Given the description of an element on the screen output the (x, y) to click on. 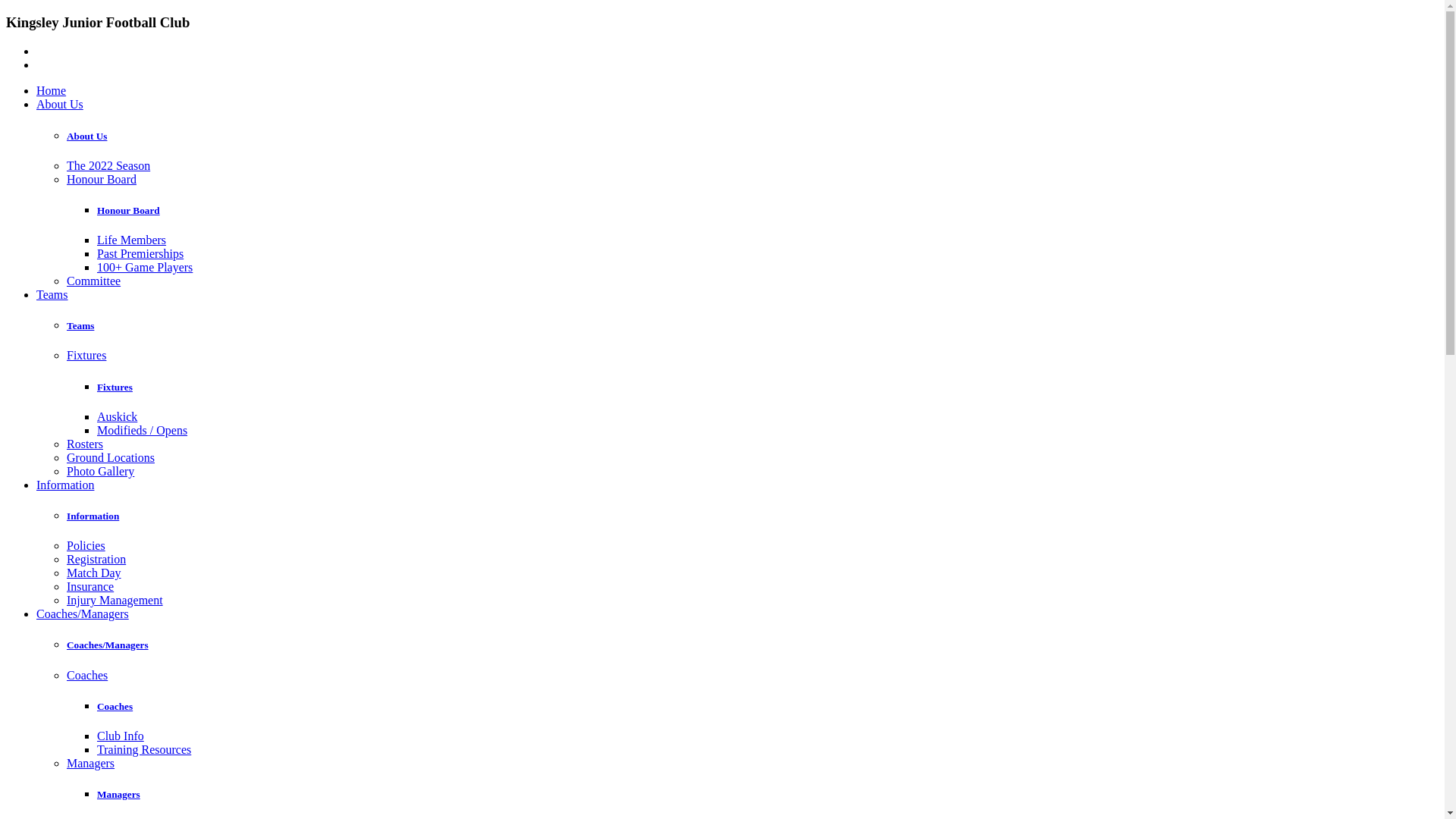
Club Info Element type: text (120, 735)
Match Day Element type: text (93, 572)
Coaches Element type: text (114, 706)
Photo Gallery Element type: text (100, 470)
Training Resources Element type: text (144, 749)
Policies Element type: text (85, 545)
Managers Element type: text (118, 794)
Injury Management Element type: text (114, 599)
Coaches Element type: text (86, 674)
Honour Board Element type: text (101, 178)
Registration Element type: text (95, 558)
About Us Element type: text (86, 135)
Auskick Element type: text (117, 416)
Teams Element type: text (80, 325)
Fixtures Element type: text (86, 354)
Coaches/Managers Element type: text (107, 644)
Home Element type: text (50, 90)
Coaches/Managers Element type: text (82, 613)
About Us Element type: text (59, 103)
Fixtures Element type: text (114, 386)
Honour Board Element type: text (128, 210)
Insurance Element type: text (89, 586)
Managers Element type: text (90, 762)
100+ Game Players Element type: text (144, 266)
Teams Element type: text (52, 294)
Committee Element type: text (93, 280)
Information Element type: text (65, 484)
Modifieds / Opens Element type: text (142, 429)
Information Element type: text (92, 515)
Life Members Element type: text (131, 239)
The 2022 Season Element type: text (108, 165)
Ground Locations Element type: text (110, 457)
Rosters Element type: text (84, 443)
Past Premierships Element type: text (140, 253)
